Given the description of an element on the screen output the (x, y) to click on. 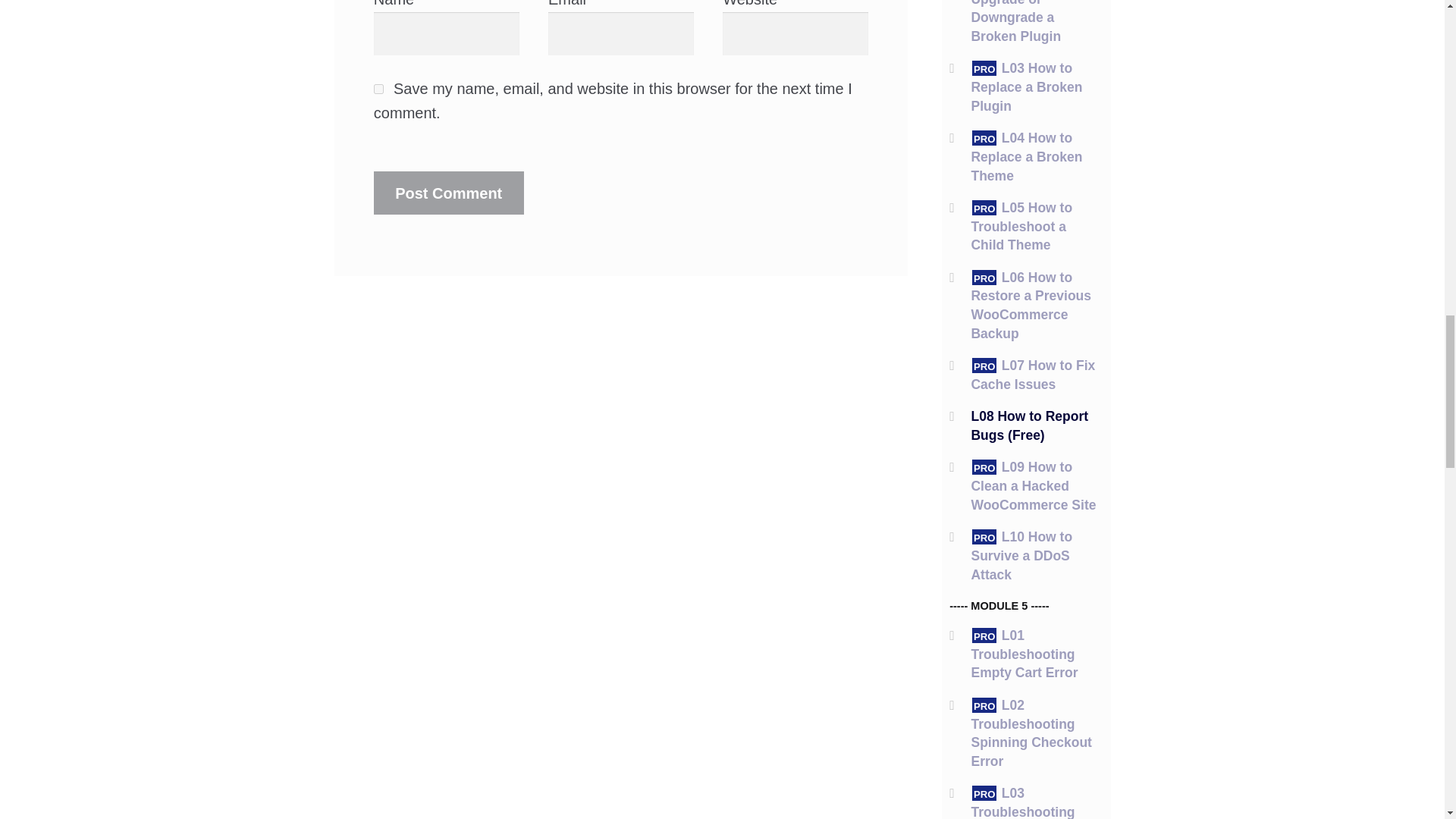
Post Comment (449, 192)
Post Comment (449, 192)
yes (379, 89)
